Given the description of an element on the screen output the (x, y) to click on. 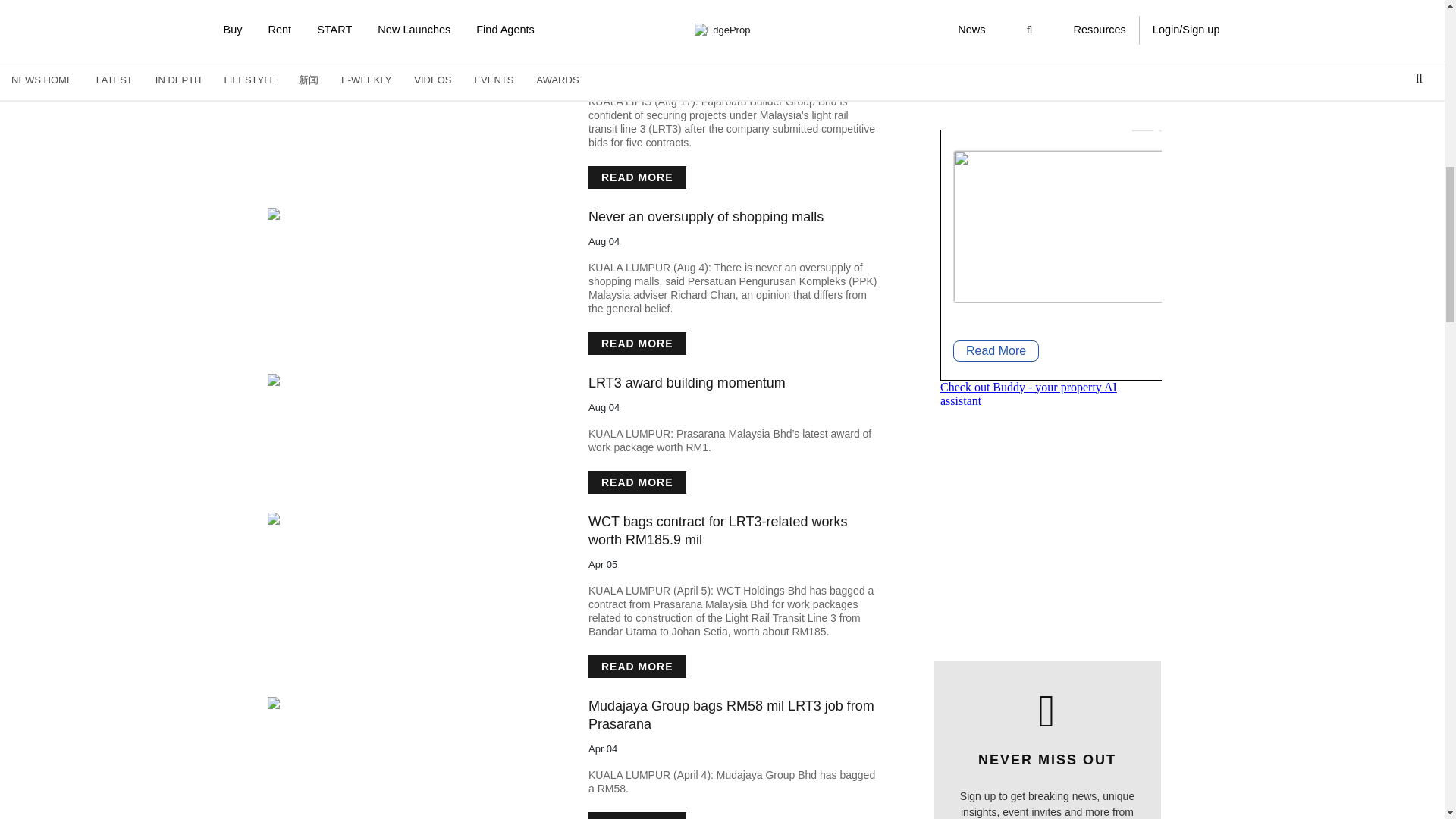
Mudajaya Group bags RM58 mil LRT3 job from Prasarana (411, 702)
Never an oversupply of shopping malls (706, 217)
LRT3 award building momentum (687, 382)
Never an oversupply of shopping malls (411, 214)
Fajarbaru positive on Malaysia LRT3 jobs (714, 50)
WCT bags contract for LRT3-related works worth RM185.9 mil (733, 530)
LRT3 award building momentum (411, 379)
WCT bags contract for LRT3-related works worth RM185.9 mil (411, 518)
Fajarbaru positive on Malaysia LRT3 jobs (411, 47)
Mudajaya Group bags RM58 mil LRT3 job from Prasarana (733, 714)
